Given the description of an element on the screen output the (x, y) to click on. 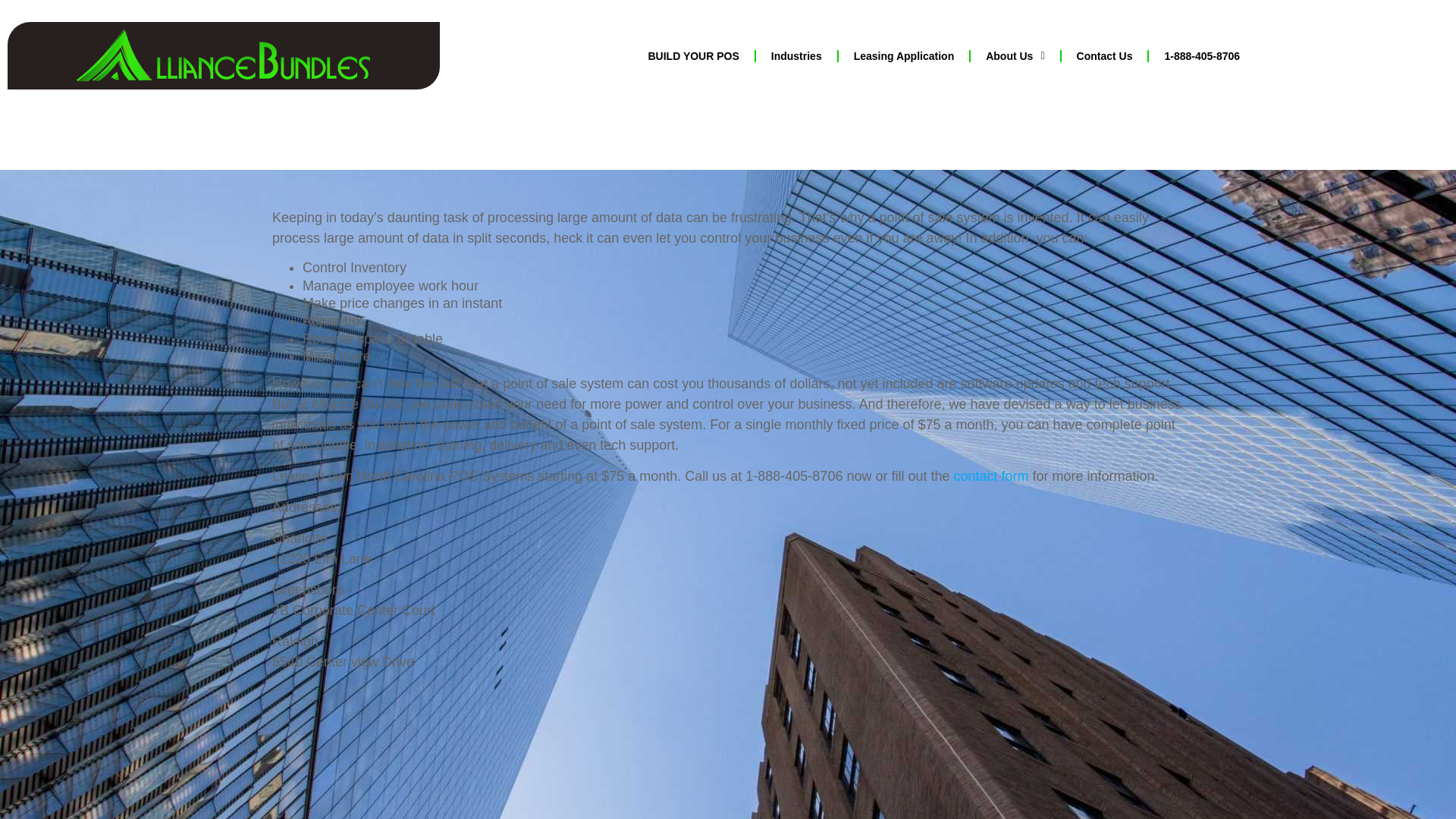
About Us (1015, 55)
1-888-405-8706 (1201, 55)
contact form (990, 476)
Leasing Application (903, 55)
Contact Us (1104, 55)
BUILD YOUR POS (692, 55)
Contact Us (990, 476)
pnumber (1201, 55)
Industries (796, 55)
